Given the description of an element on the screen output the (x, y) to click on. 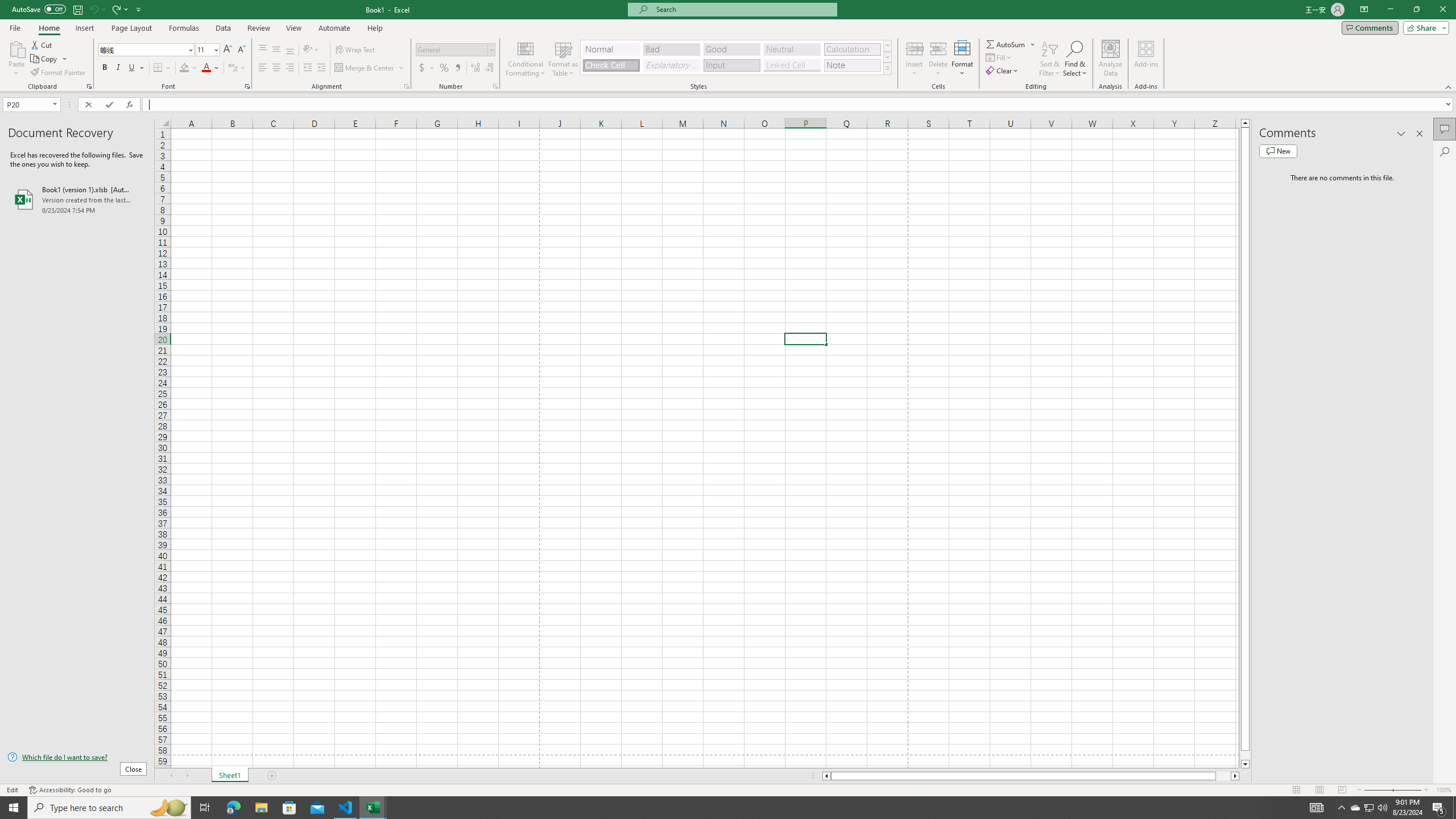
Cut (42, 44)
Insert Cells (914, 48)
Increase Indent (320, 67)
Paste (16, 58)
Cell Styles (887, 68)
Calculation (852, 49)
Number Format (455, 49)
Sum (1006, 44)
Decrease Font Size (240, 49)
Good (731, 49)
